Given the description of an element on the screen output the (x, y) to click on. 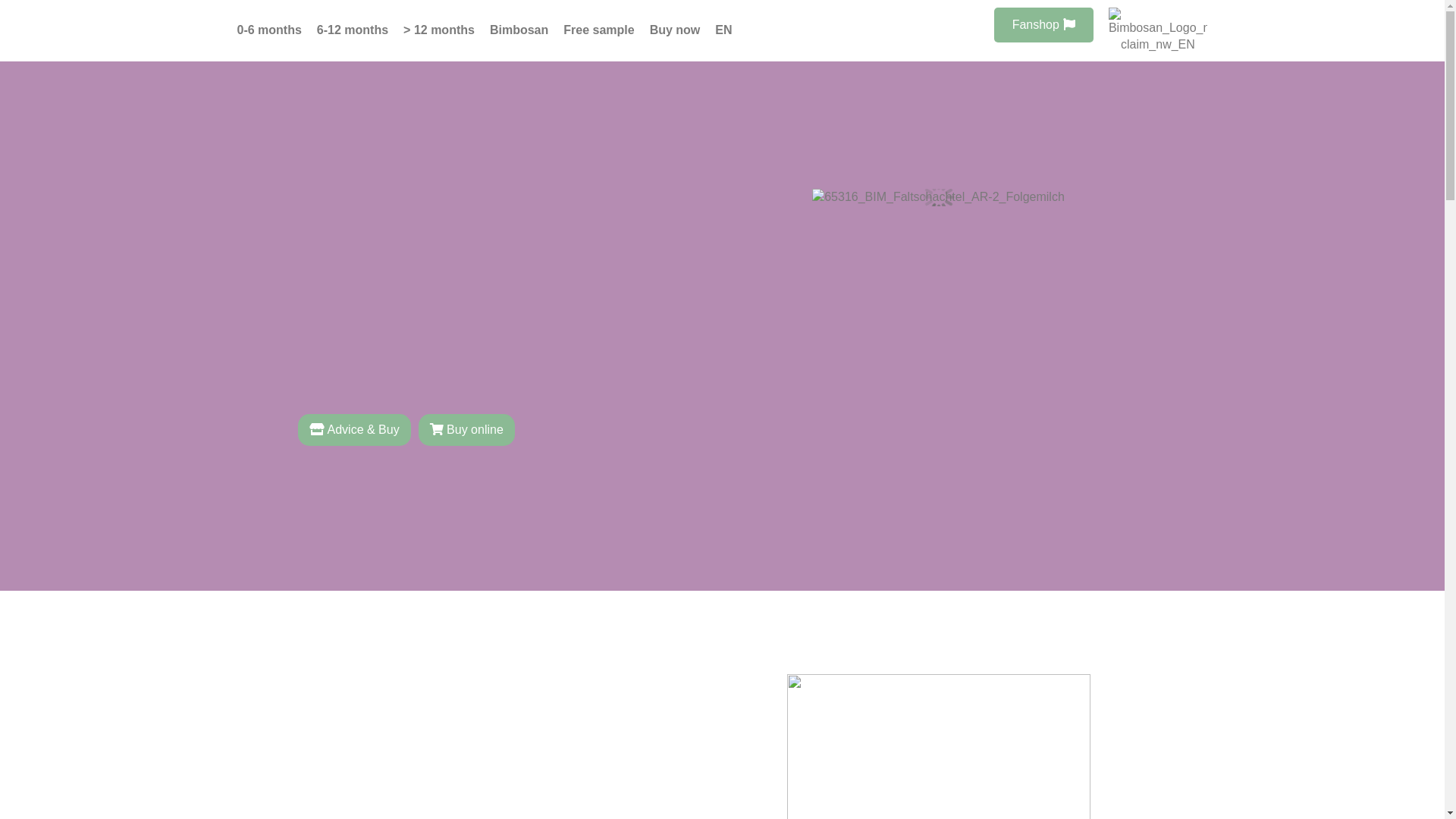
Fanshop Element type: text (1043, 24)
6-12 months Element type: text (352, 29)
Buy online Element type: text (466, 429)
Free sample Element type: text (598, 29)
0-6 months Element type: text (268, 29)
EN Element type: text (723, 29)
> 12 months Element type: text (438, 29)
Buy now Element type: text (675, 29)
Bimbosan Element type: text (518, 29)
Advice & Buy Element type: text (353, 429)
